Given the description of an element on the screen output the (x, y) to click on. 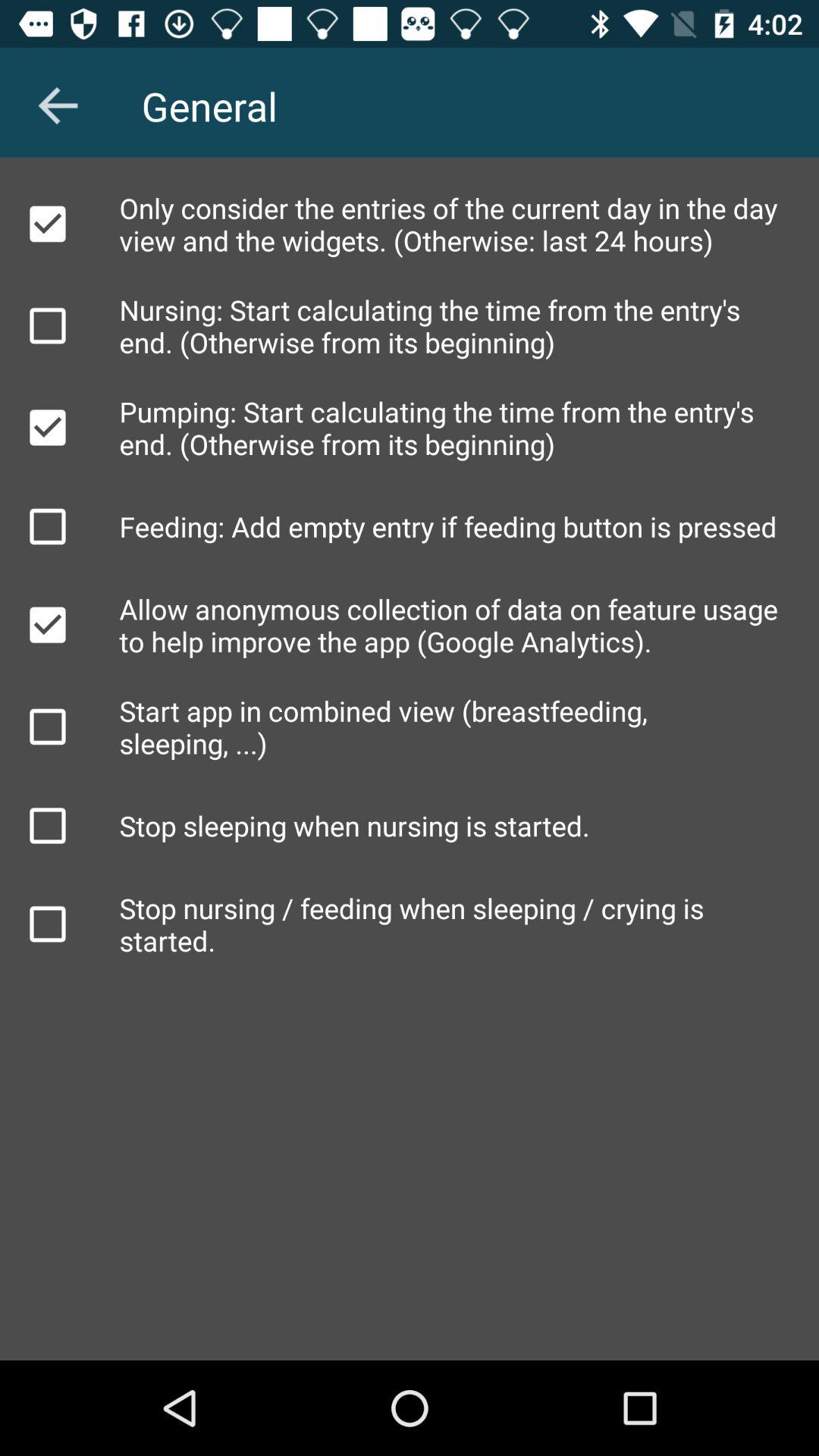
select options (47, 427)
